Given the description of an element on the screen output the (x, y) to click on. 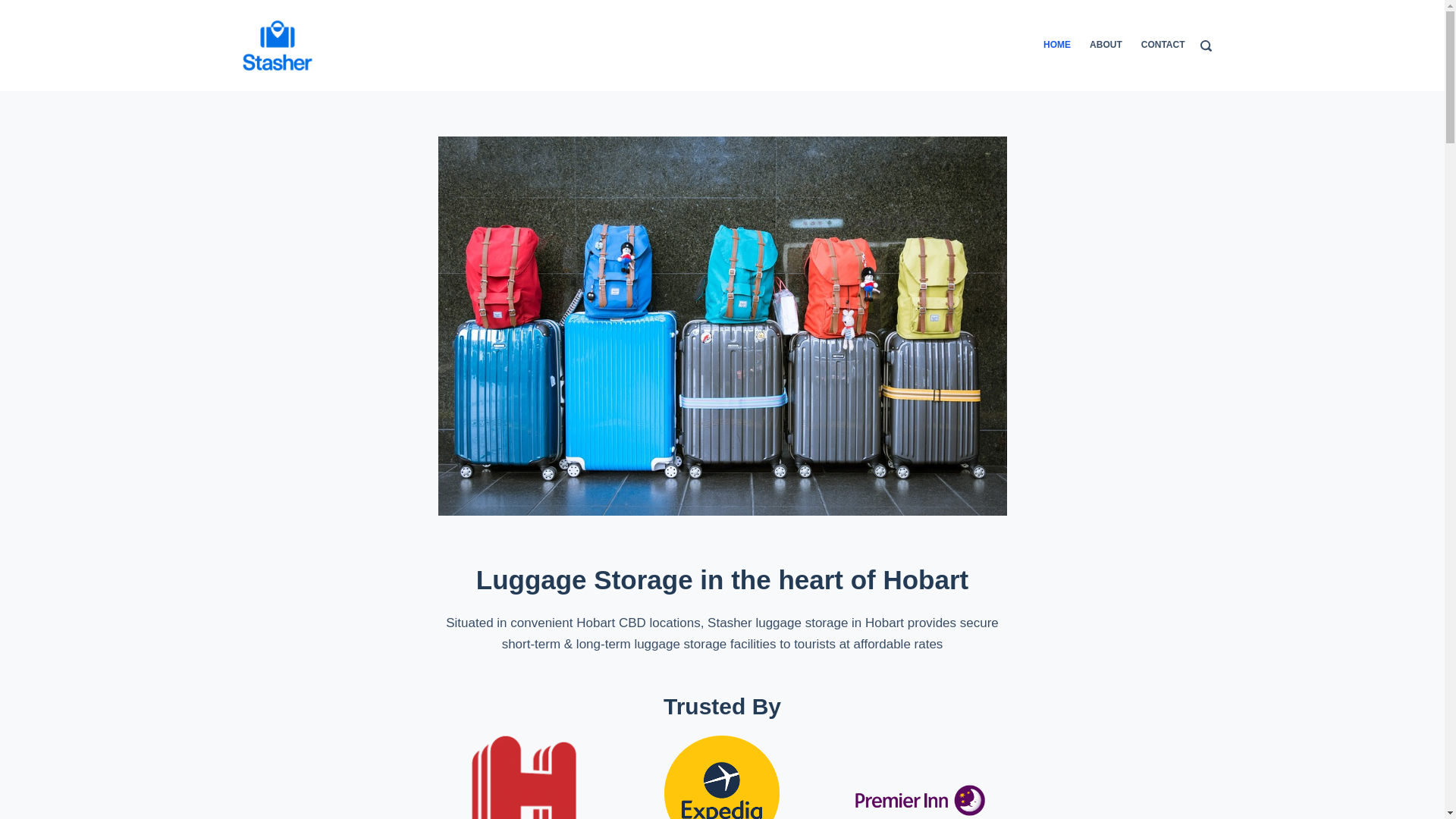
Skip to content Element type: text (15, 7)
HOME Element type: text (1061, 45)
ABOUT Element type: text (1106, 45)
CONTACT Element type: text (1157, 45)
